Given the description of an element on the screen output the (x, y) to click on. 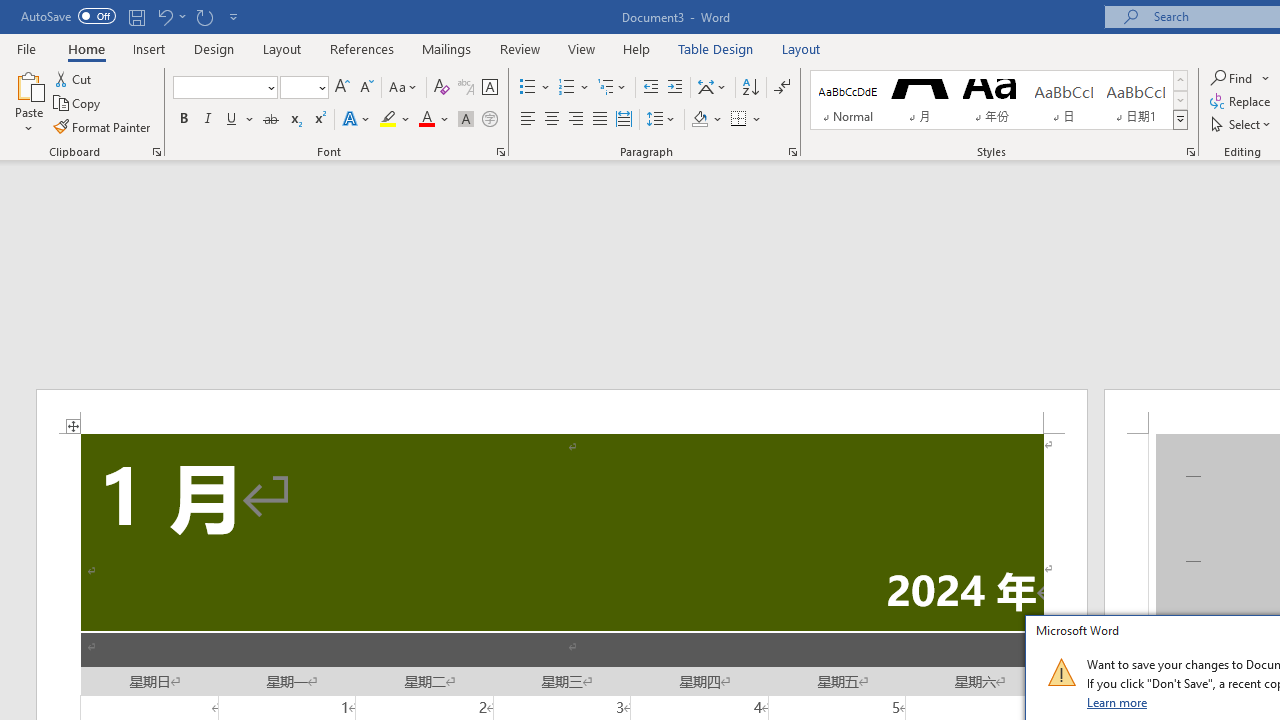
Review (520, 48)
Shrink Font (365, 87)
Styles (1179, 120)
Superscript (319, 119)
View (582, 48)
Numbering (566, 87)
Sort... (750, 87)
Repeat Doc Close (204, 15)
Grow Font (342, 87)
Row Down (1179, 100)
Center (552, 119)
Line and Paragraph Spacing (661, 119)
Replace... (1242, 101)
AutomationID: QuickStylesGallery (999, 99)
System (10, 11)
